Given the description of an element on the screen output the (x, y) to click on. 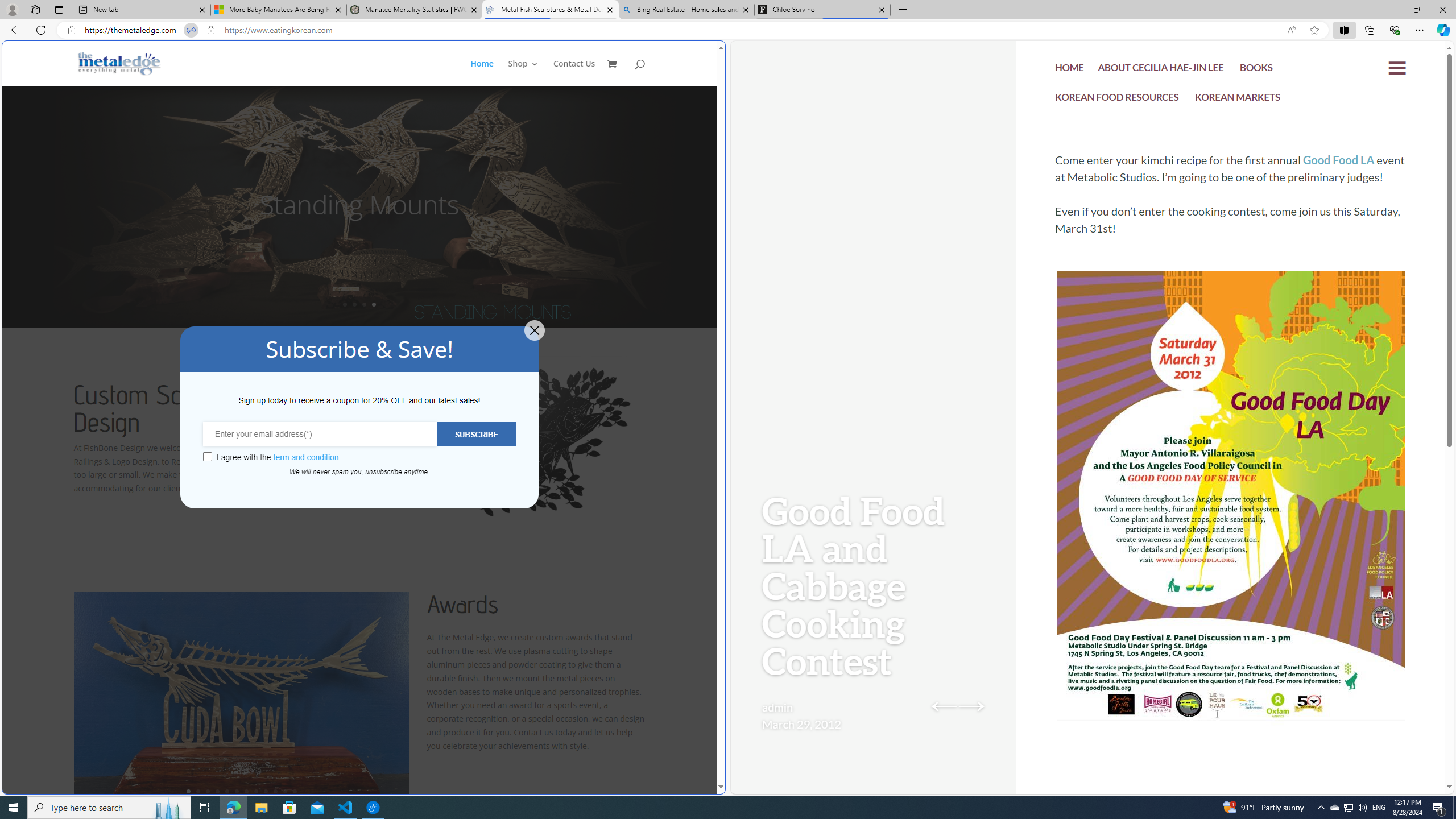
Contact Us (574, 72)
App bar (728, 29)
HOME (1069, 70)
Contact Us (574, 72)
Home (488, 72)
KOREAN MARKETS (1237, 99)
8 (255, 790)
Address and search bar (680, 29)
